Given the description of an element on the screen output the (x, y) to click on. 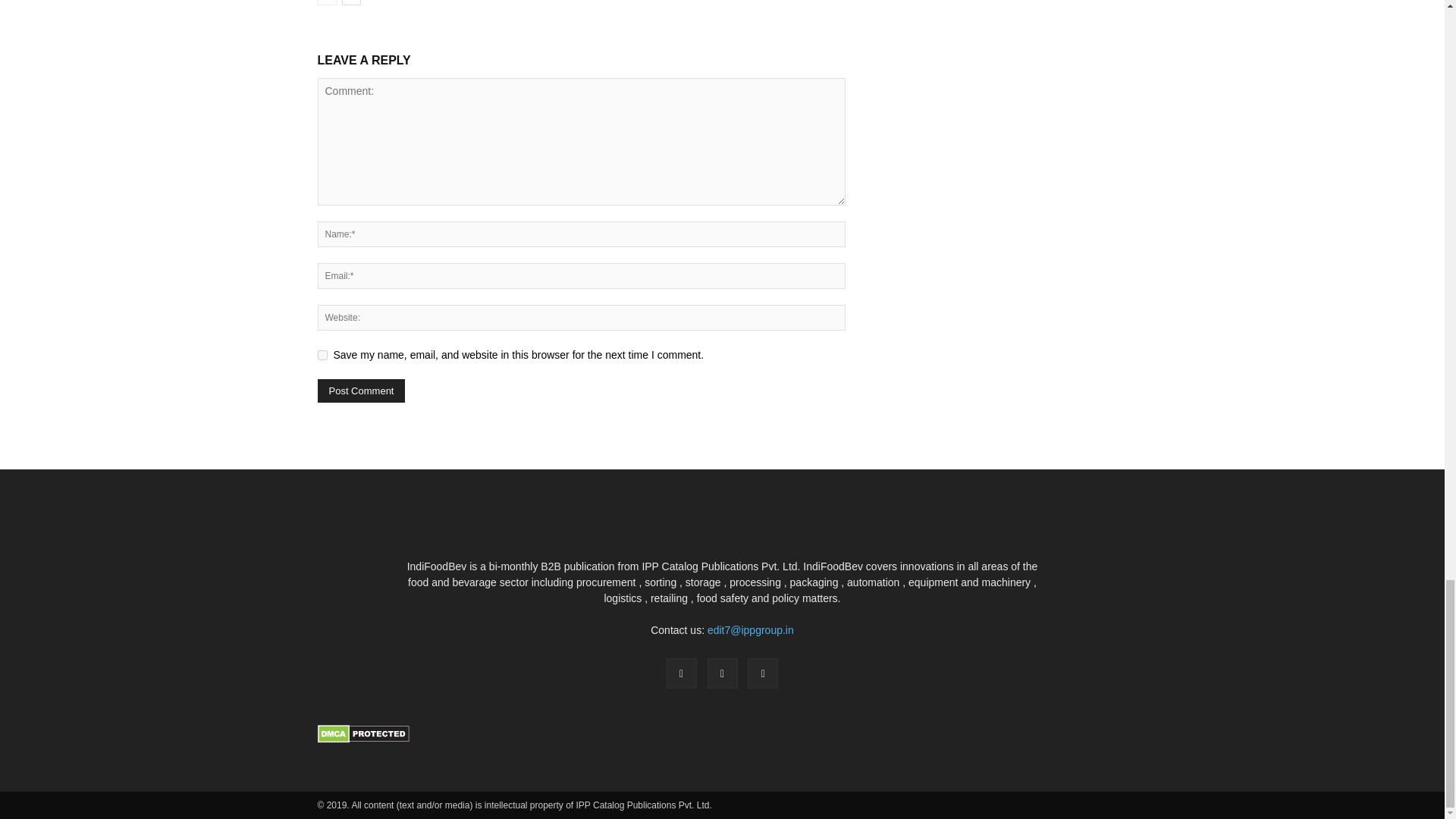
Post Comment (360, 390)
yes (321, 355)
